Given the description of an element on the screen output the (x, y) to click on. 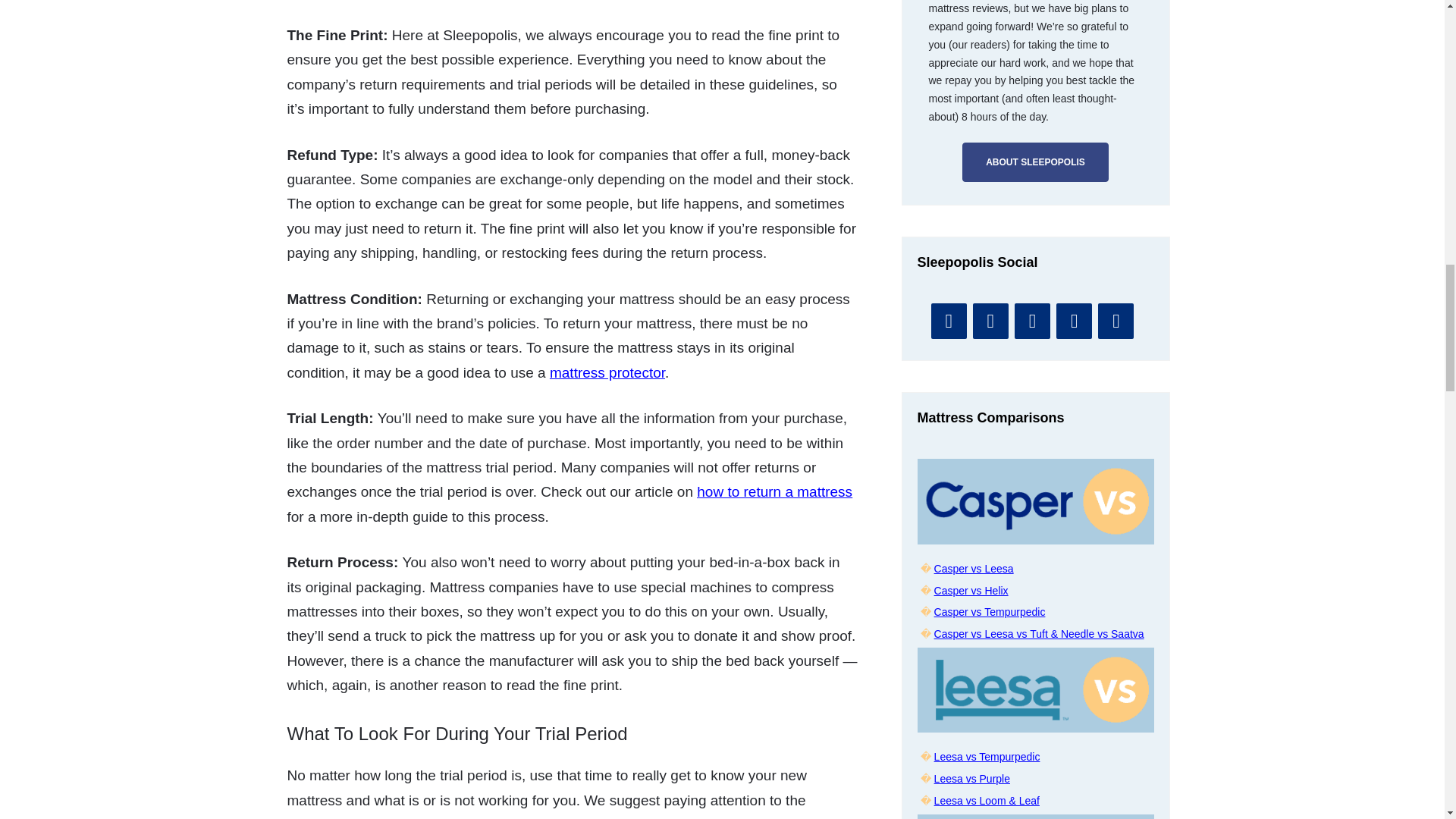
Facebook (990, 321)
Instagram (1031, 321)
YouTube (948, 321)
